Given the description of an element on the screen output the (x, y) to click on. 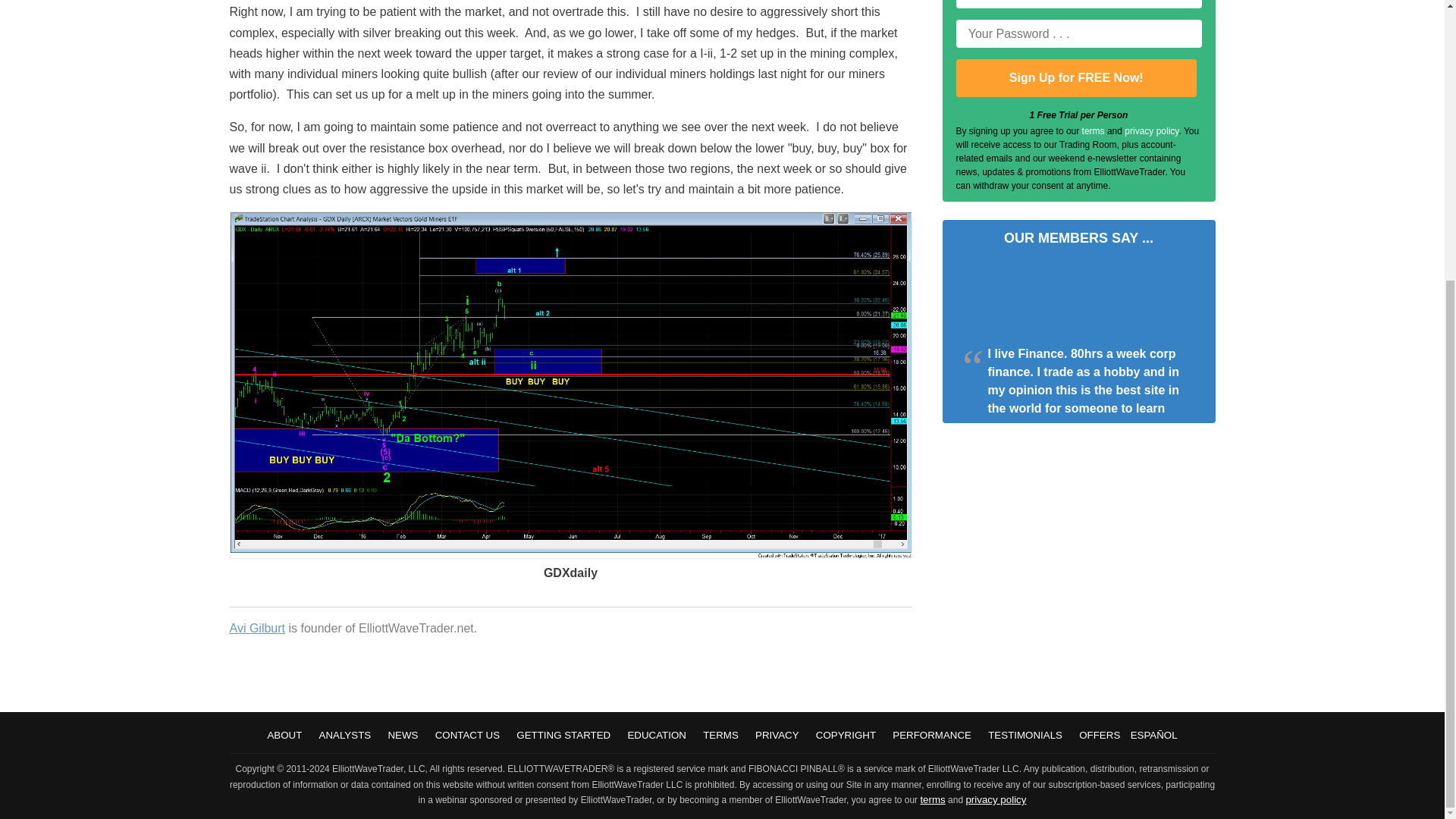
Sign Up for FREE Now! (1075, 77)
PERFORMANCE (931, 735)
ANALYSTS (344, 735)
OFFERS (1098, 735)
terms (932, 799)
Click to Enlarge (569, 554)
Sign Up for FREE Now! (1075, 77)
COPYRIGHT (845, 735)
terms (1093, 131)
PRIVACY (777, 735)
